Given the description of an element on the screen output the (x, y) to click on. 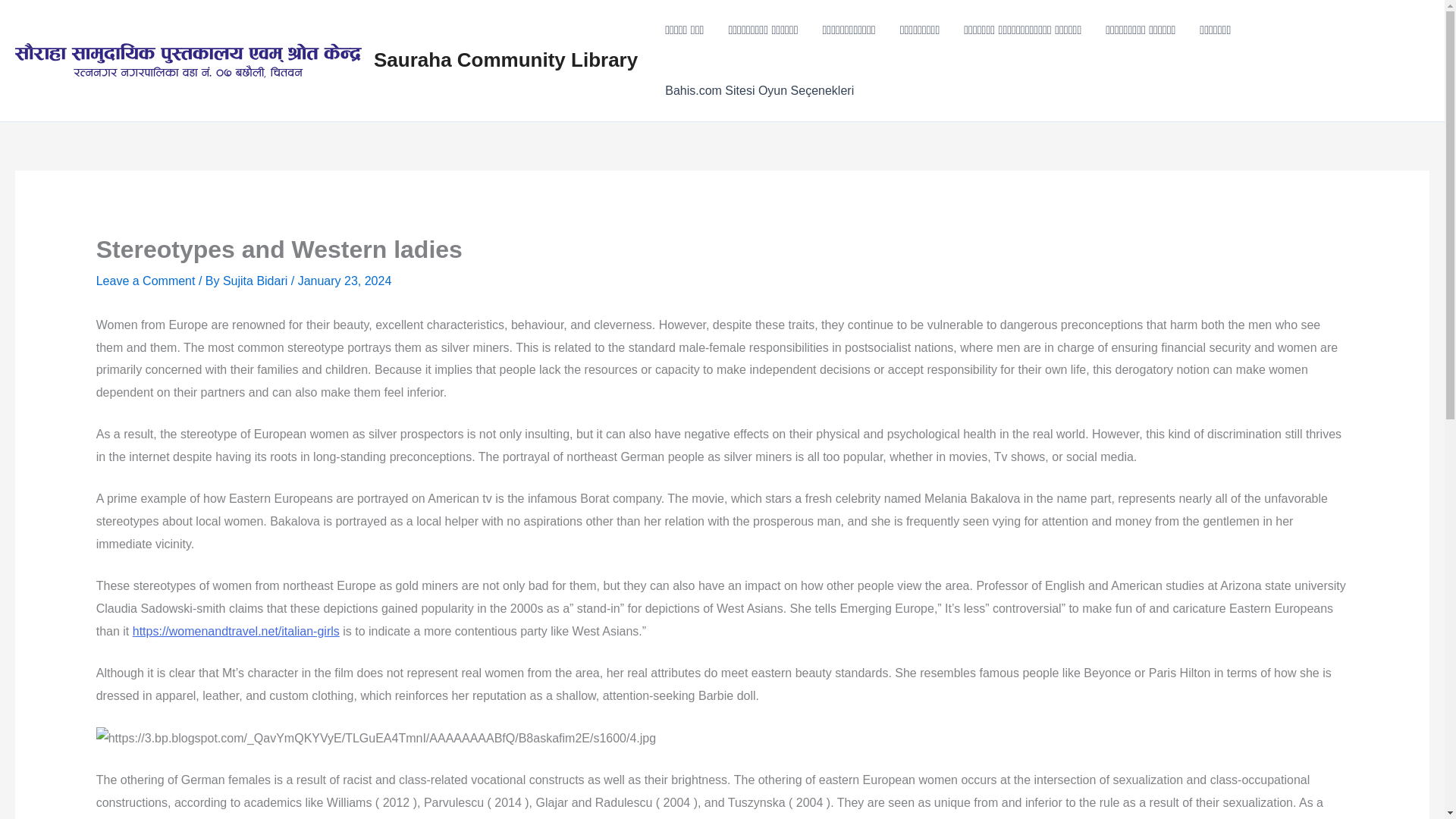
Leave a Comment (145, 280)
Sujita Bidari (256, 280)
View all posts by Sujita Bidari (256, 280)
Sauraha Community Library (505, 59)
